Given the description of an element on the screen output the (x, y) to click on. 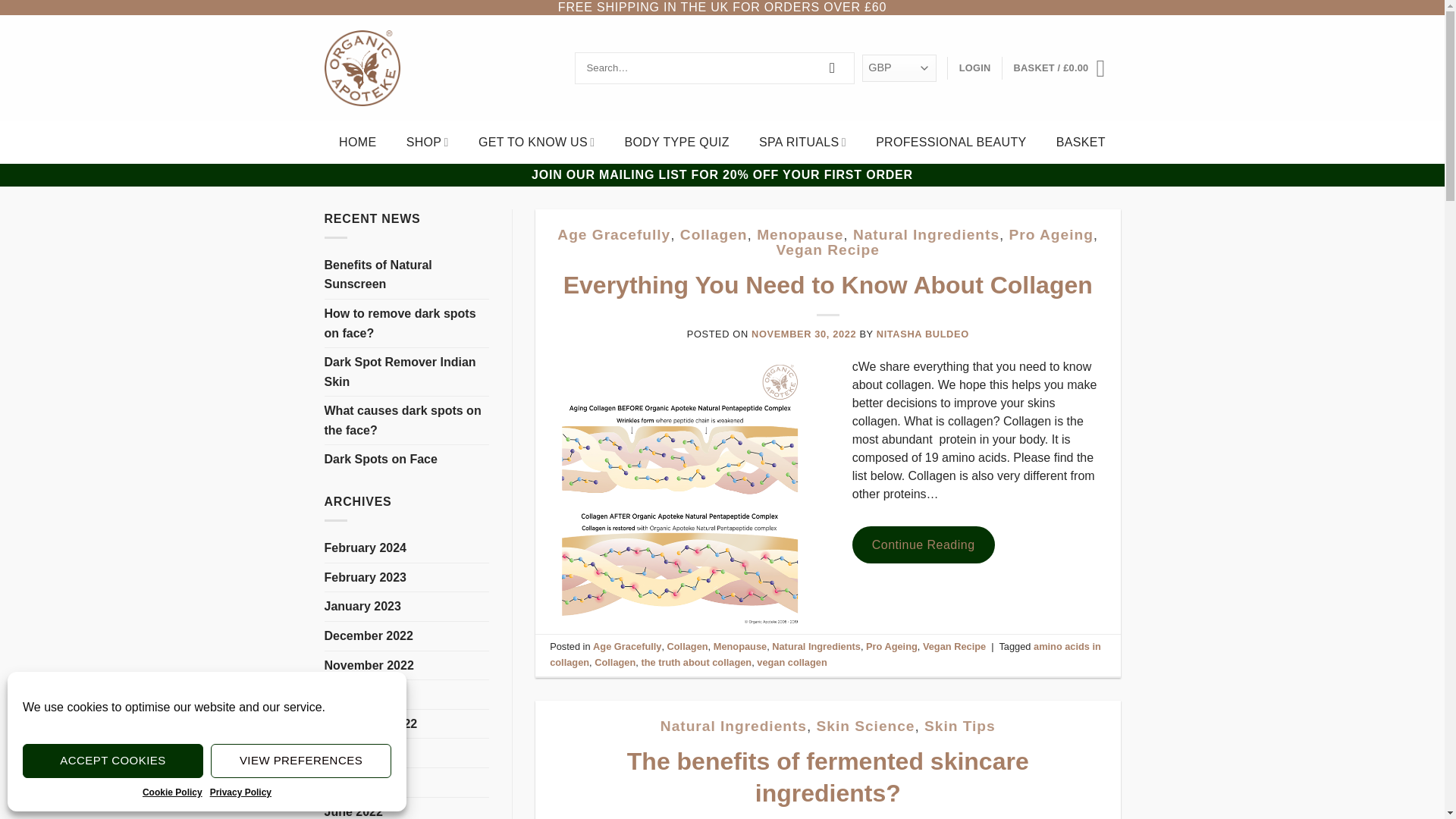
ACCEPT COOKIES (113, 760)
LOGIN (975, 68)
SHOP (427, 142)
HOME (357, 142)
VIEW PREFERENCES (301, 760)
Privacy Policy (239, 792)
Original price:0 (1074, 67)
Cookie Policy (172, 792)
Basket (1067, 67)
